Given the description of an element on the screen output the (x, y) to click on. 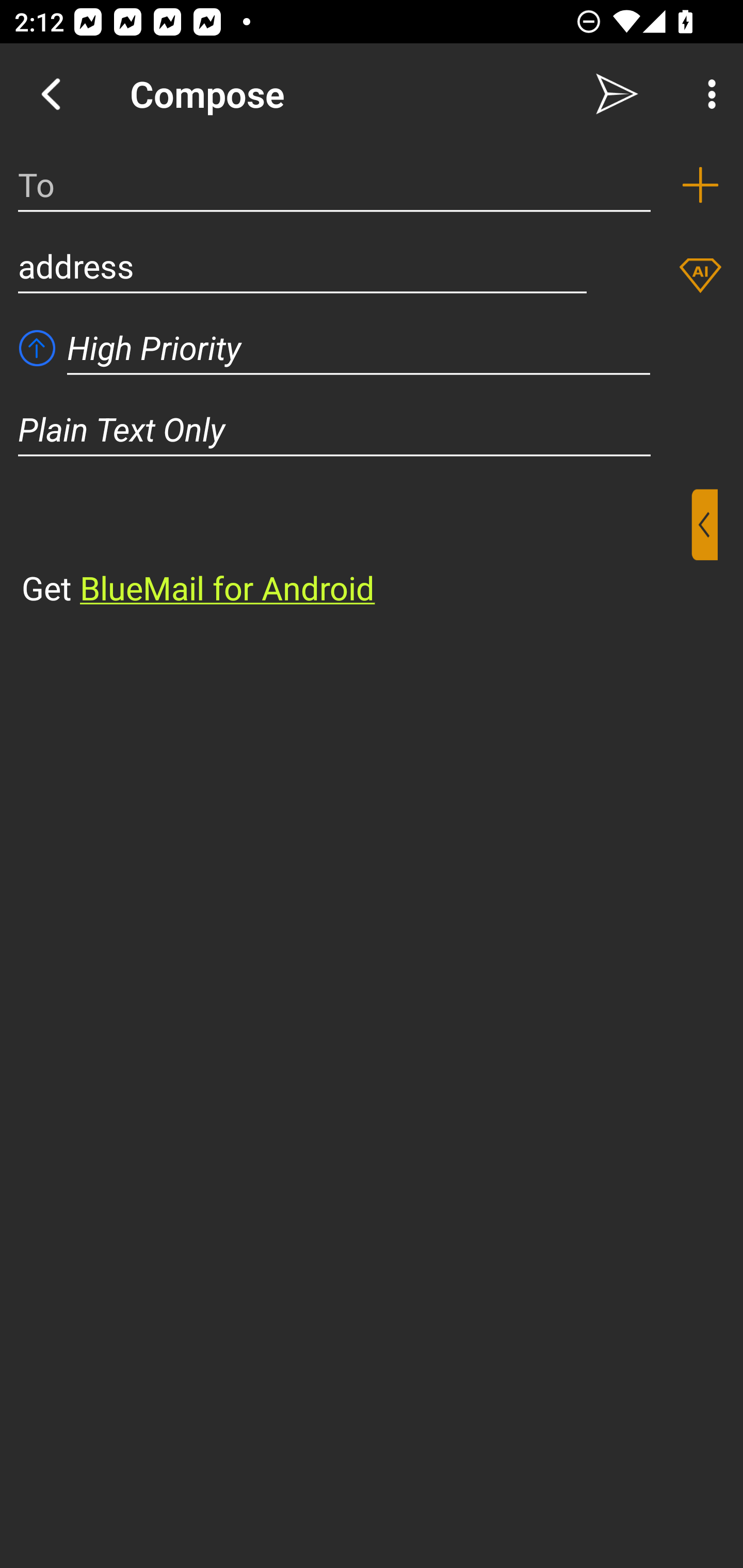
Navigate up (50, 93)
Send (616, 93)
More Options (706, 93)
To (334, 184)
Add recipient (To) (699, 184)
address (302, 266)
High Priority (358, 347)
Plain Text Only (371, 429)


⁣Get BlueMail for Android ​ (355, 549)
